Given the description of an element on the screen output the (x, y) to click on. 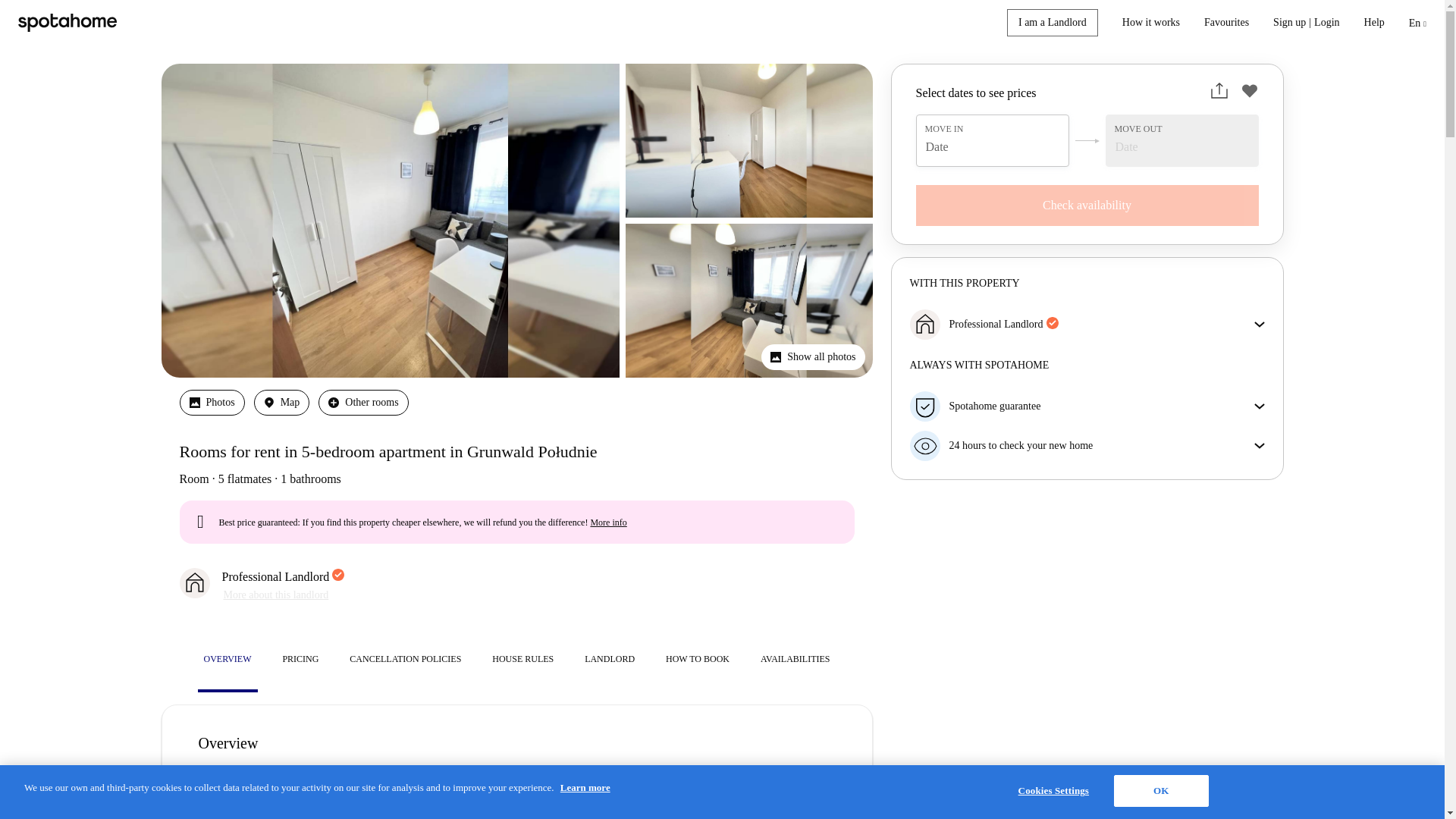
More info (607, 521)
Favourites (1226, 22)
Help (1374, 22)
I am a Landlord (1052, 22)
How it works (1150, 22)
Login (1326, 22)
More about this landlord (275, 595)
Sign up (1289, 22)
Check availability (1087, 205)
